Given the description of an element on the screen output the (x, y) to click on. 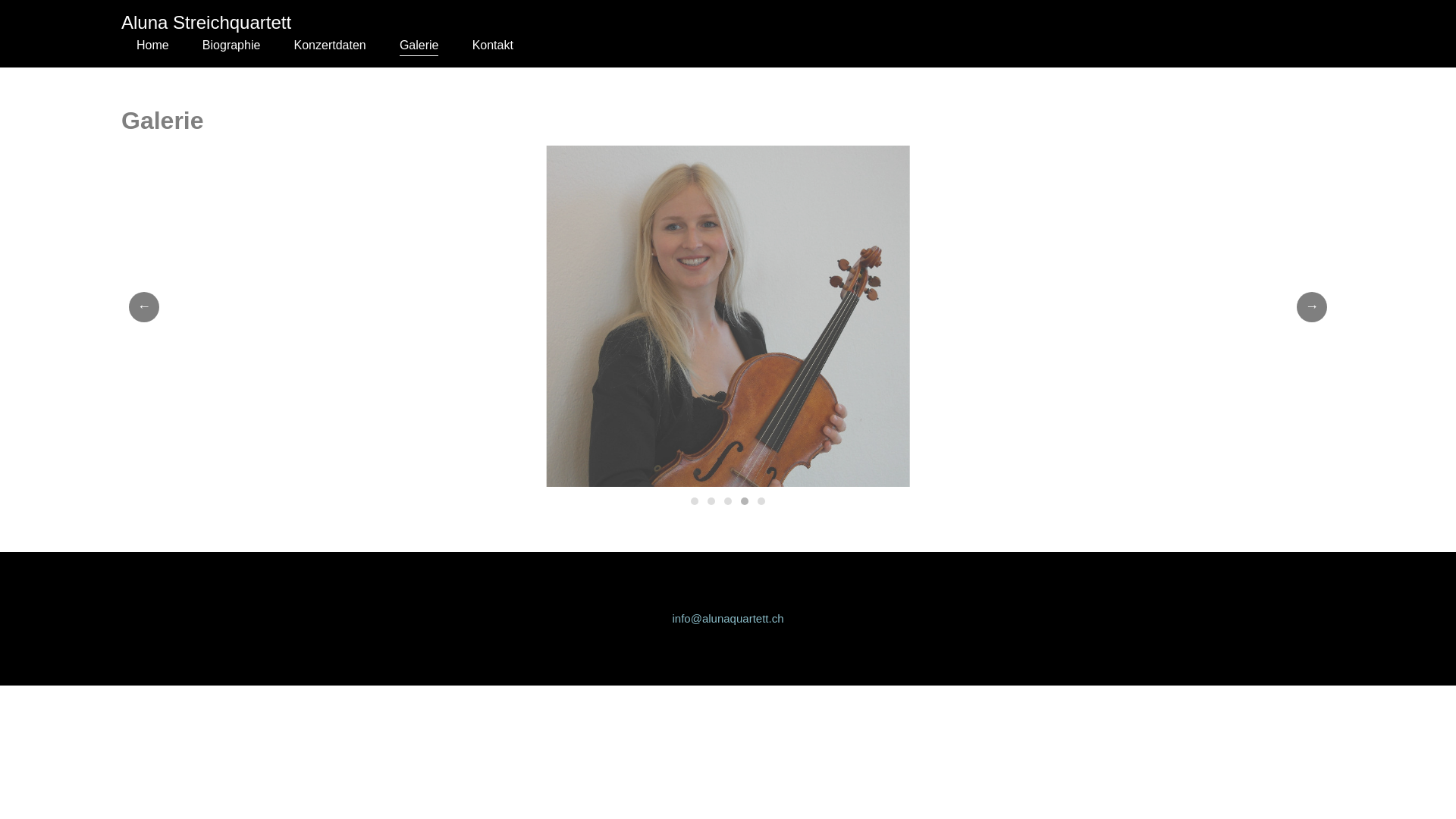
Biographie Element type: text (231, 45)
Home Element type: text (152, 45)
Kontakt Element type: text (492, 45)
info@alunaquartett.ch Element type: text (727, 618)
Aluna Streichquartett Element type: text (206, 22)
Konzertdaten Element type: text (330, 45)
Galerie Element type: text (419, 45)
